Given the description of an element on the screen output the (x, y) to click on. 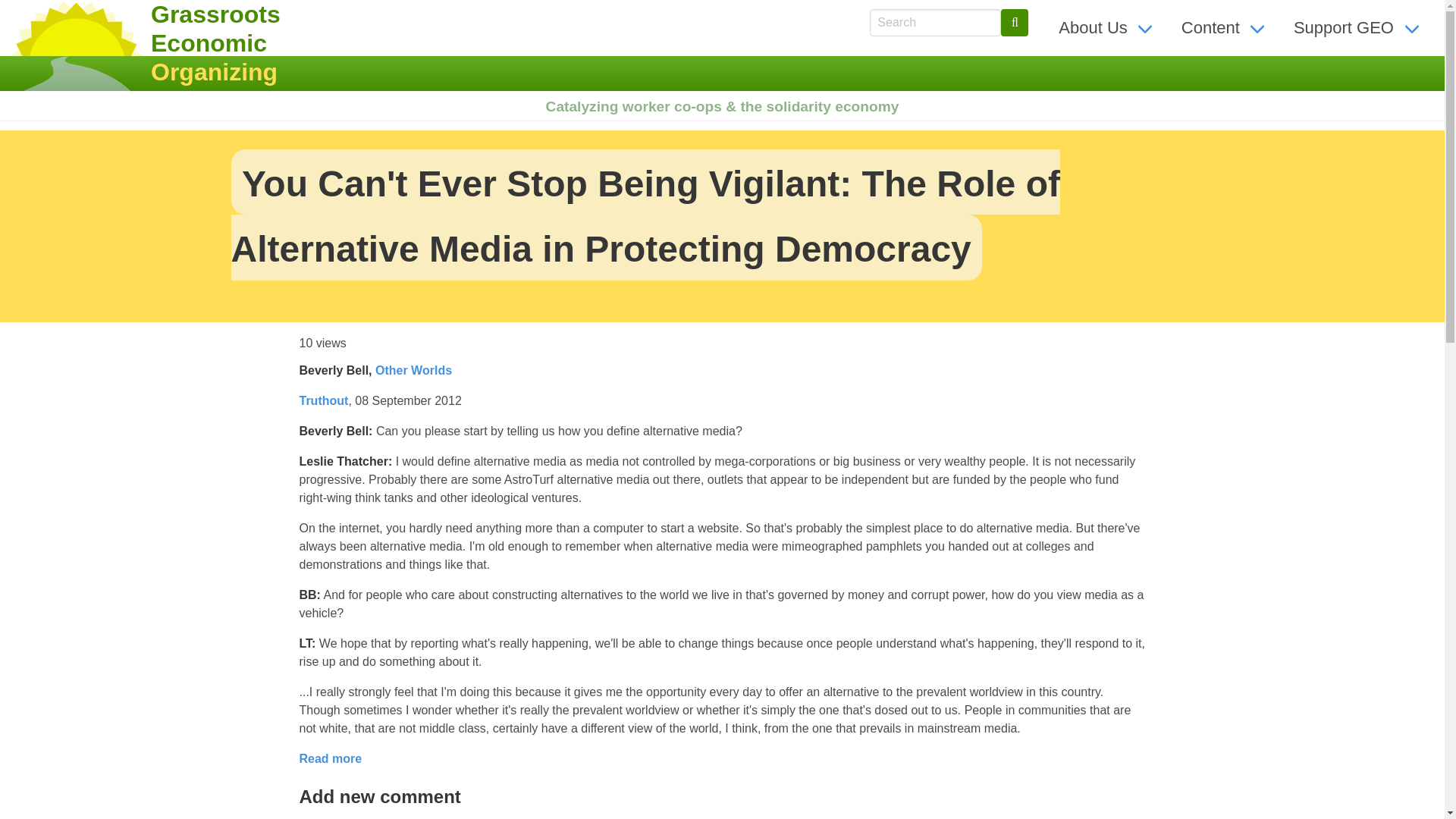
Home (75, 45)
Article, Blogs, Gleanings, and More! (1225, 27)
About GEO (1107, 27)
Content (1225, 27)
About Us (1107, 27)
Search (1014, 22)
Home (206, 43)
Grassroots Economic Organizing (206, 43)
Support GEO (1358, 27)
